Given the description of an element on the screen output the (x, y) to click on. 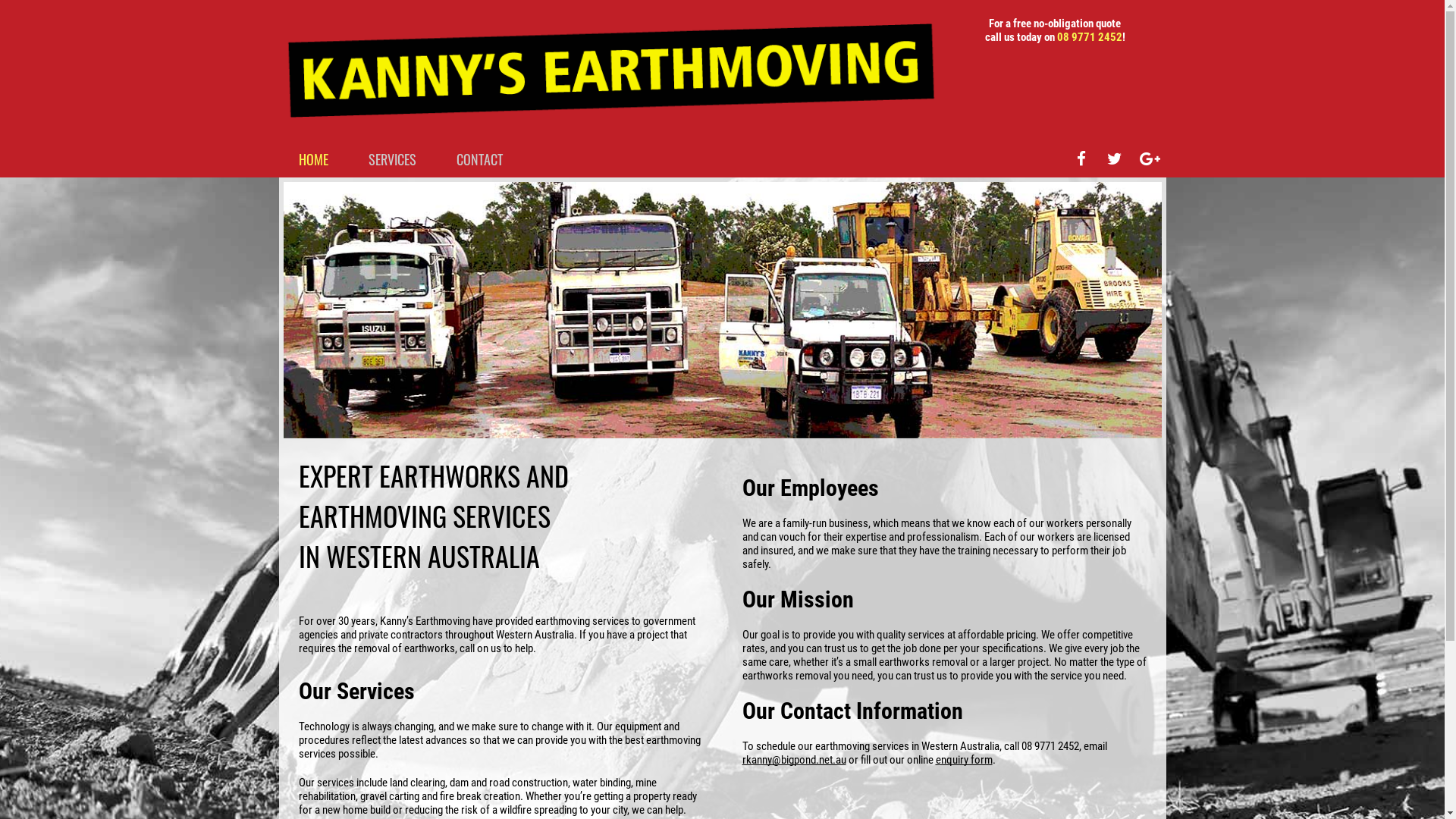
enquiry form Element type: text (963, 759)
08 9771 2452 Element type: text (1089, 36)
SERVICES Element type: text (392, 159)
rkanny@bigpond.net.au Element type: text (793, 759)
CONTACT Element type: text (479, 159)
HOME Element type: text (313, 159)
Kannys-Earthmoving-WesternAustralia  Element type: hover (722, 310)
Kannys-Earthmoving-logo Element type: hover (611, 70)
